Given the description of an element on the screen output the (x, y) to click on. 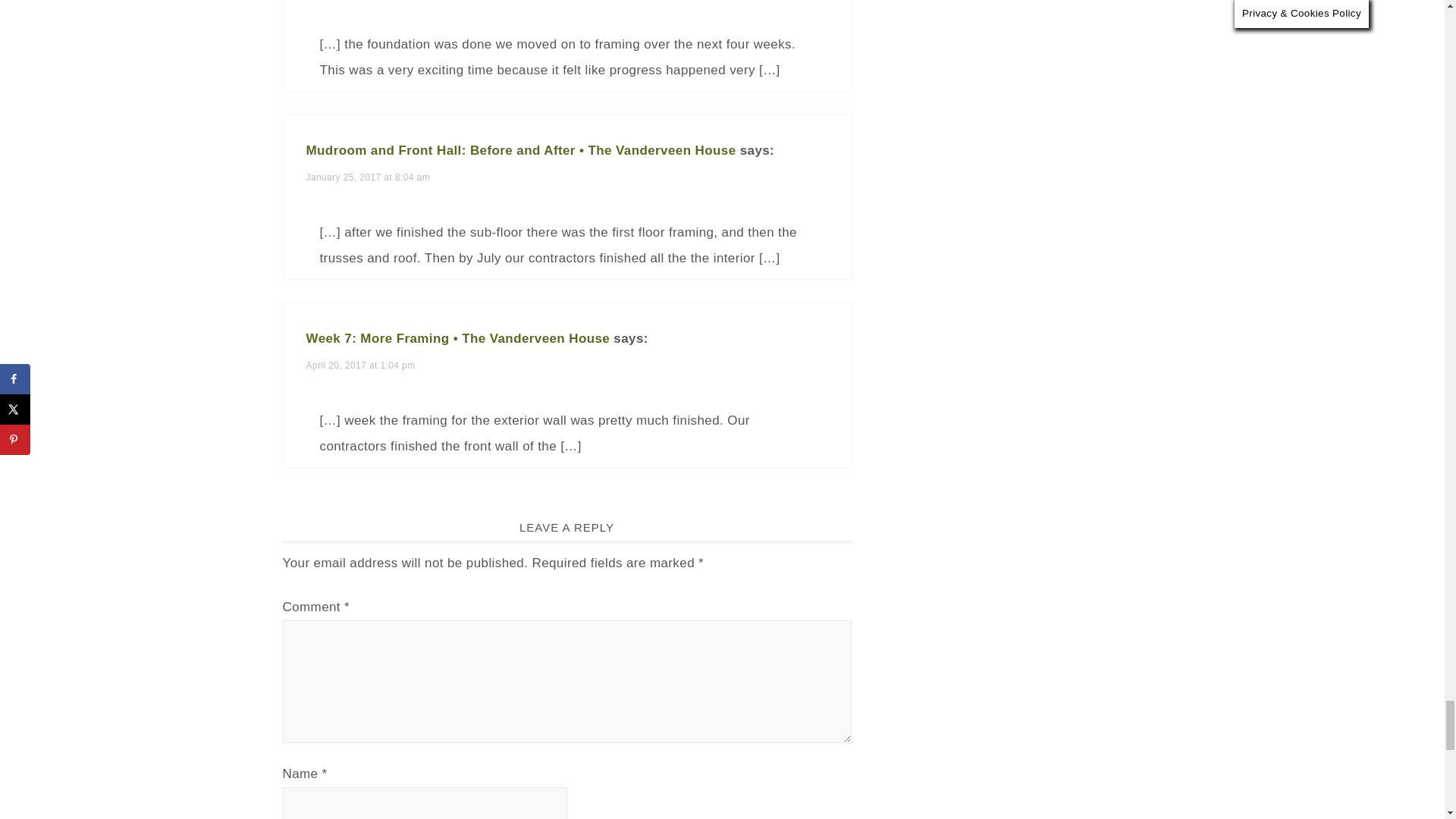
January 25, 2017 at 8:04 am (367, 176)
April 20, 2017 at 1:04 pm (359, 365)
